Given the description of an element on the screen output the (x, y) to click on. 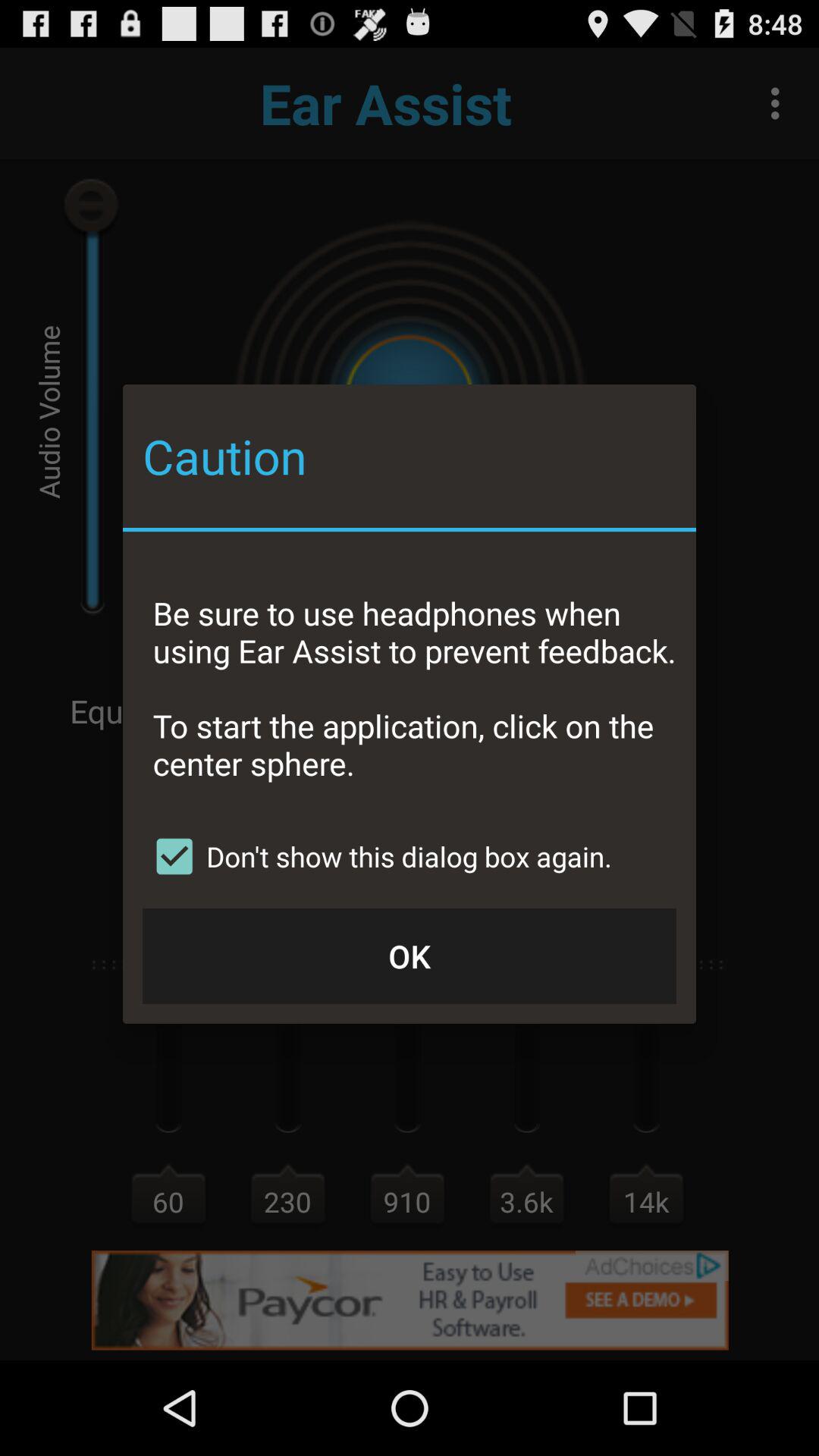
select icon below the be sure to item (376, 856)
